Given the description of an element on the screen output the (x, y) to click on. 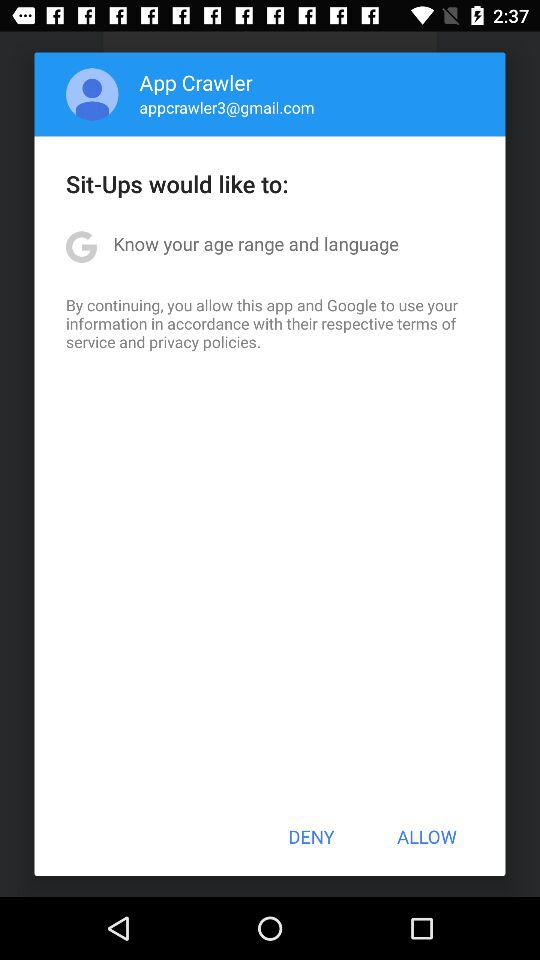
turn on app crawler item (195, 82)
